Given the description of an element on the screen output the (x, y) to click on. 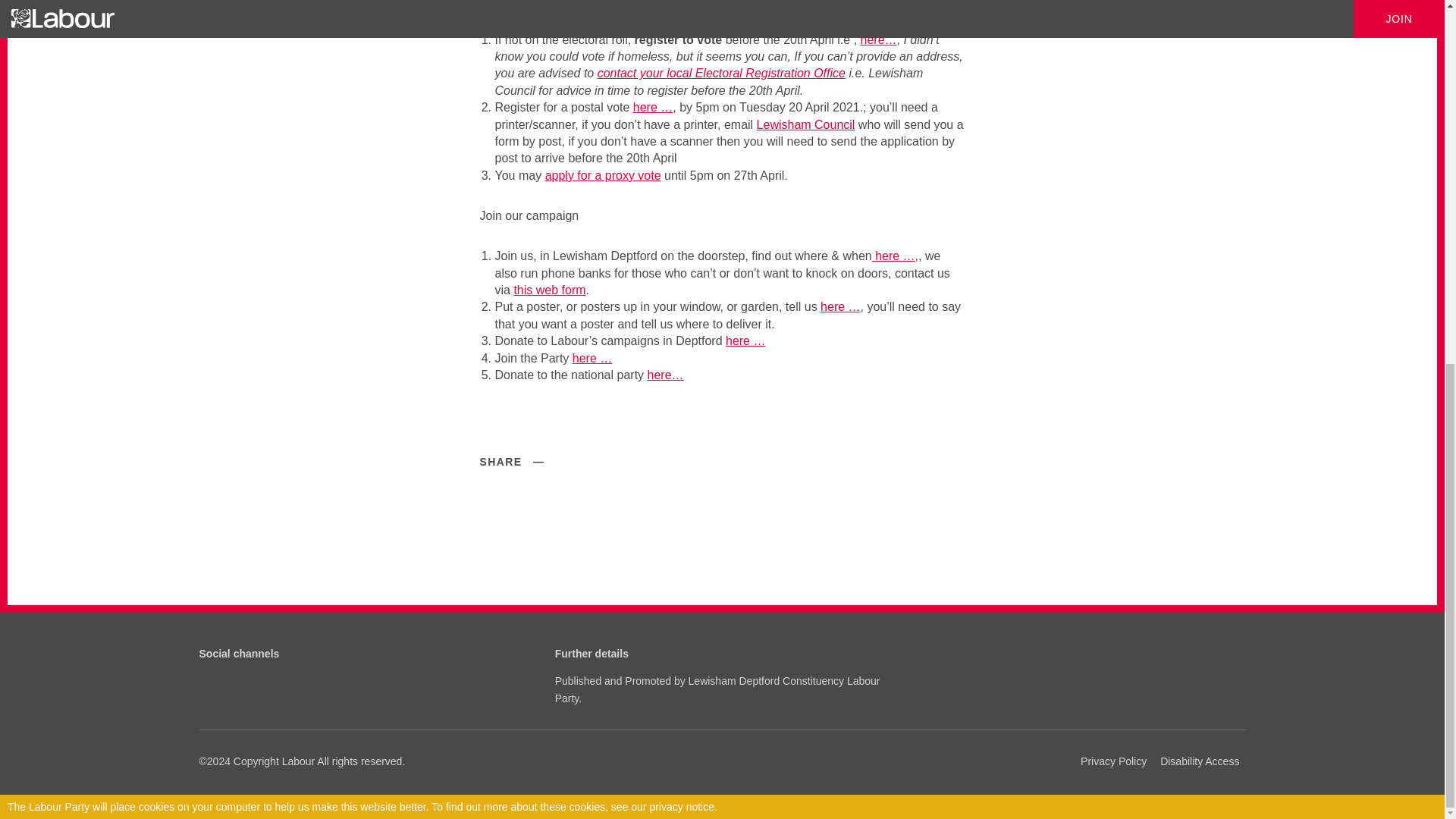
this web form (549, 289)
Lewisham Council (806, 124)
apply for a proxy vote (602, 174)
Disability Access (1199, 761)
contact your local Electoral Registration Office (720, 72)
Privacy Policy (1113, 761)
